Given the description of an element on the screen output the (x, y) to click on. 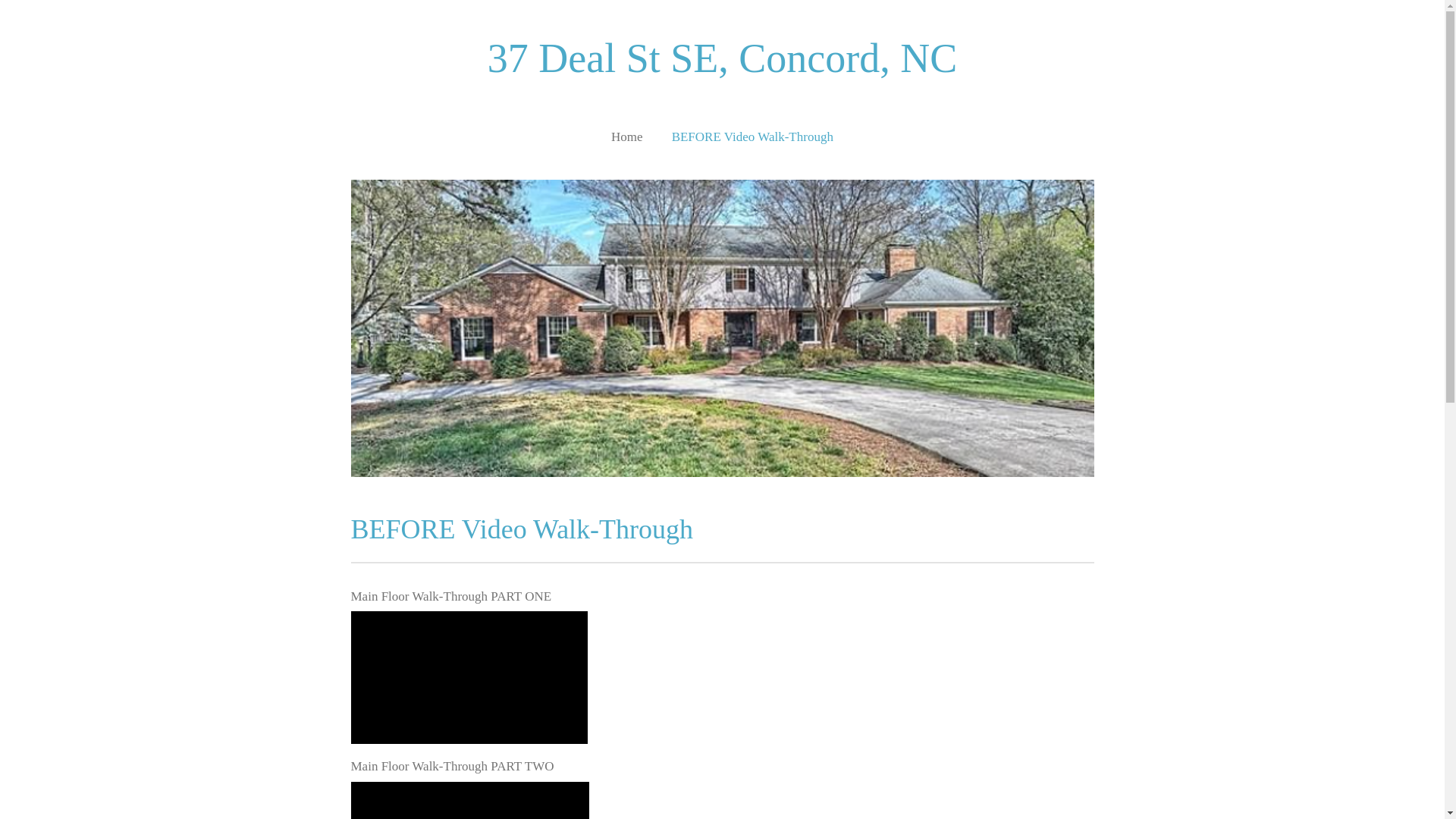
Home Element type: text (626, 136)
37 Deal St SE, Concord, NC Element type: text (722, 58)
BEFORE Video Walk-Through Element type: text (752, 136)
